Given the description of an element on the screen output the (x, y) to click on. 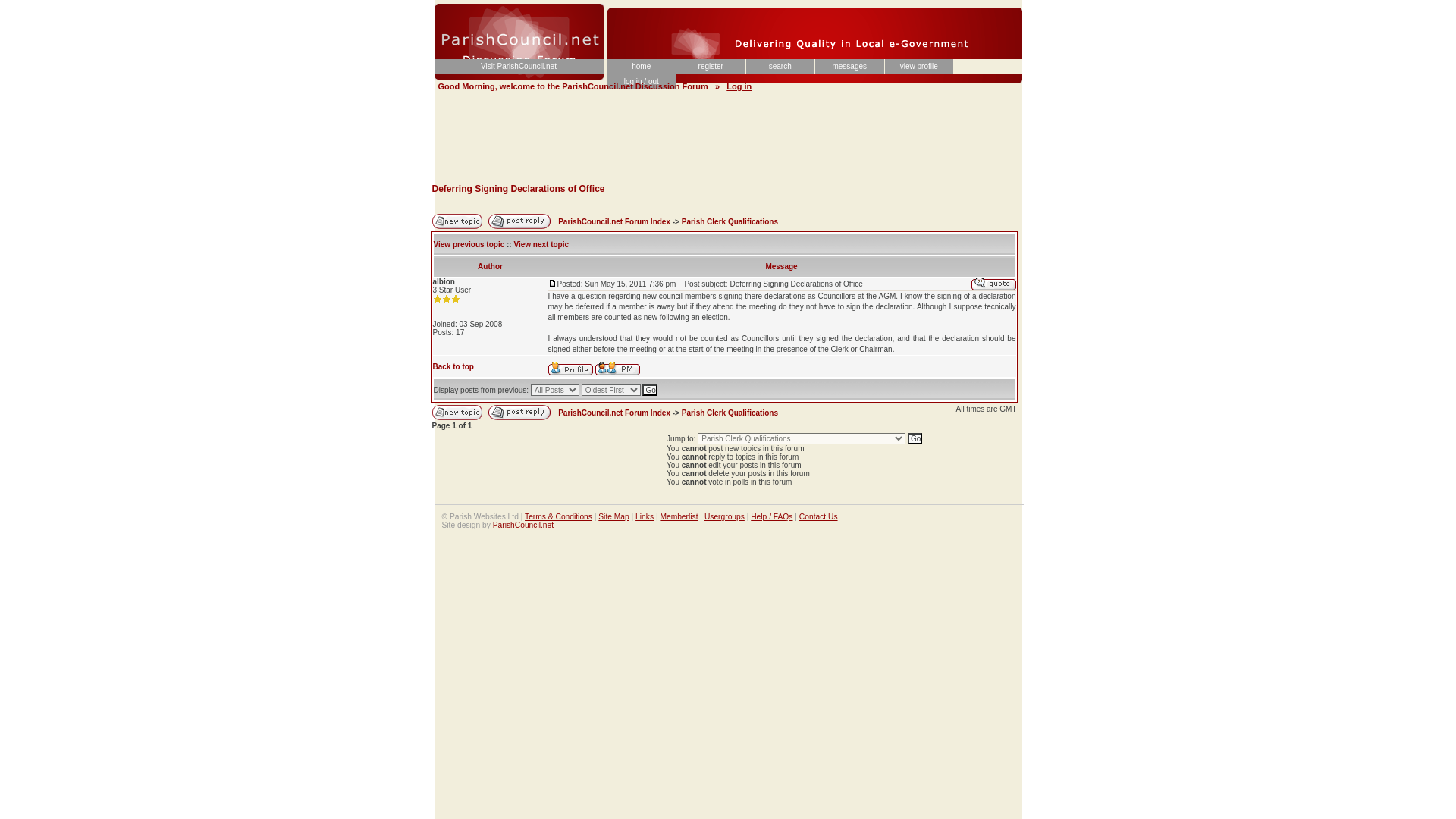
Links (643, 516)
search (780, 66)
Memberlist (678, 516)
View previous topic (469, 244)
Go (914, 438)
Deferring Signing Declarations of Office (518, 188)
Log in (738, 85)
ParishCouncil.net Forum Index (613, 412)
view profile (918, 66)
Site Map (613, 516)
ParishCouncil.net Forum Index (613, 221)
messages (849, 66)
Contact Us (818, 516)
Parish Clerk Qualifications (729, 412)
home (641, 66)
